Given the description of an element on the screen output the (x, y) to click on. 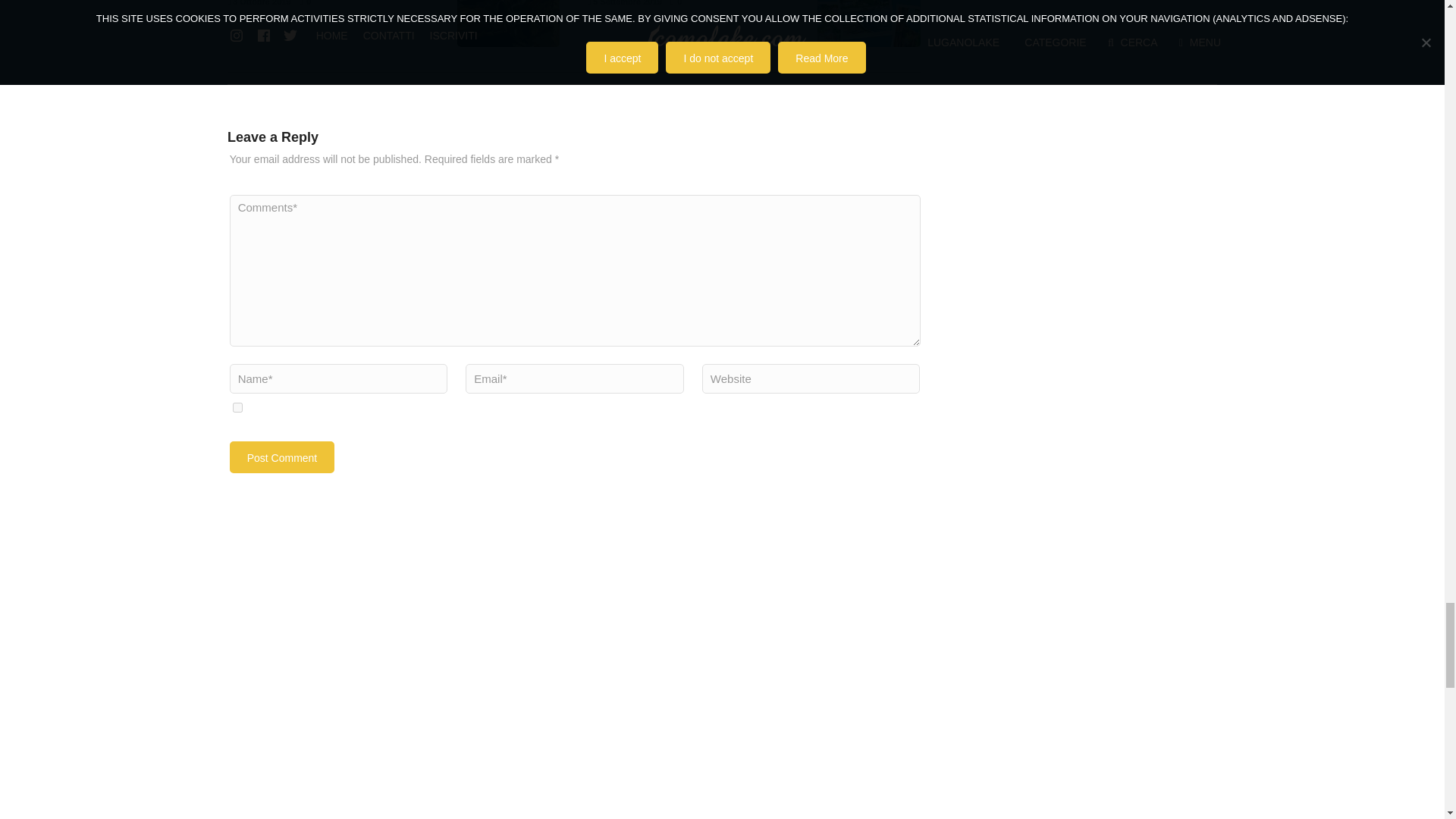
Post Comment (282, 457)
yes (237, 407)
